Given the description of an element on the screen output the (x, y) to click on. 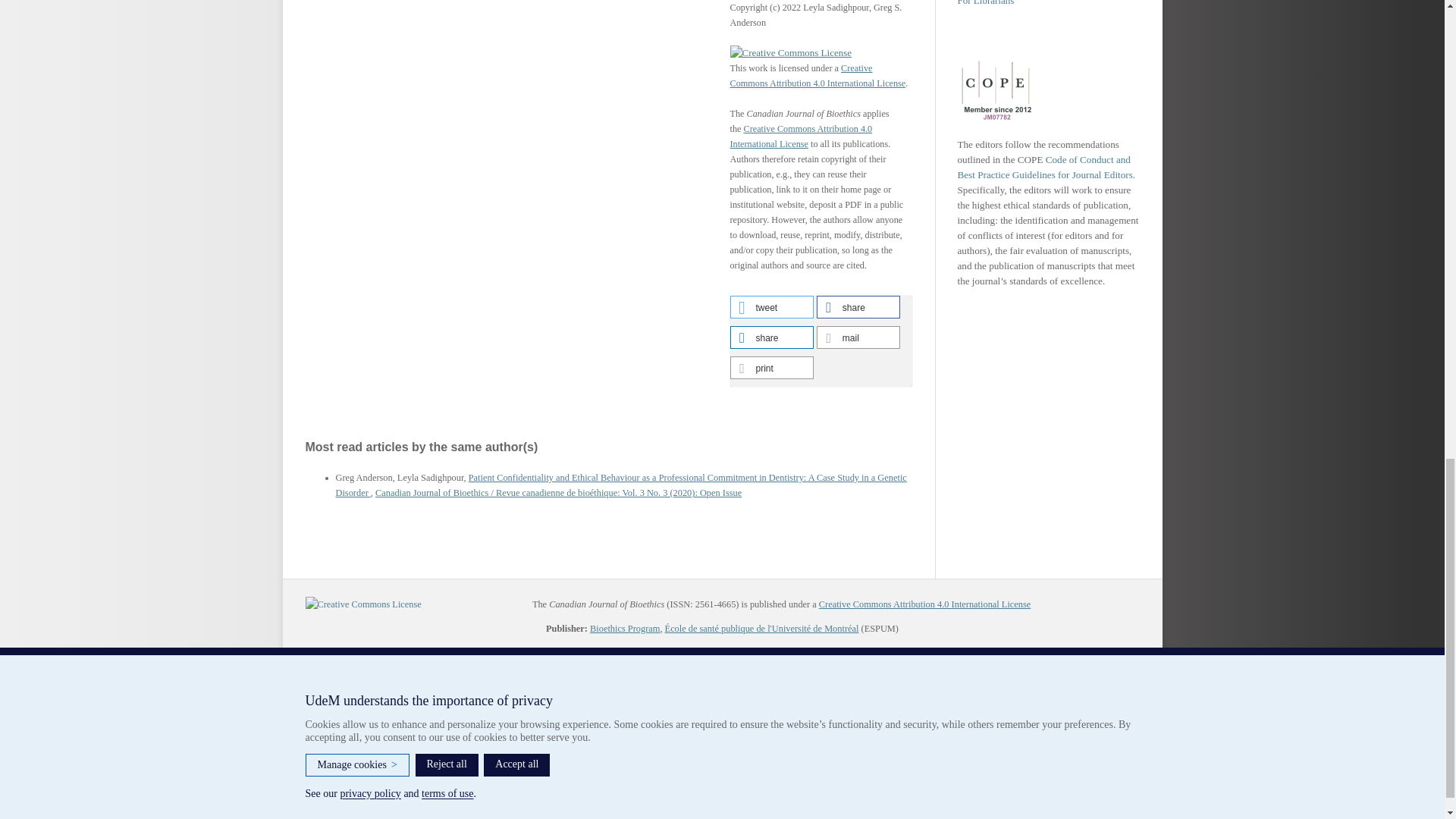
Share on Twitter (770, 306)
View additional privacy information (692, 757)
View the terms of use for web platforms (741, 757)
Send by email (857, 336)
Share on Facebook (857, 306)
print (770, 367)
Share on LinkedIn (770, 336)
